Given the description of an element on the screen output the (x, y) to click on. 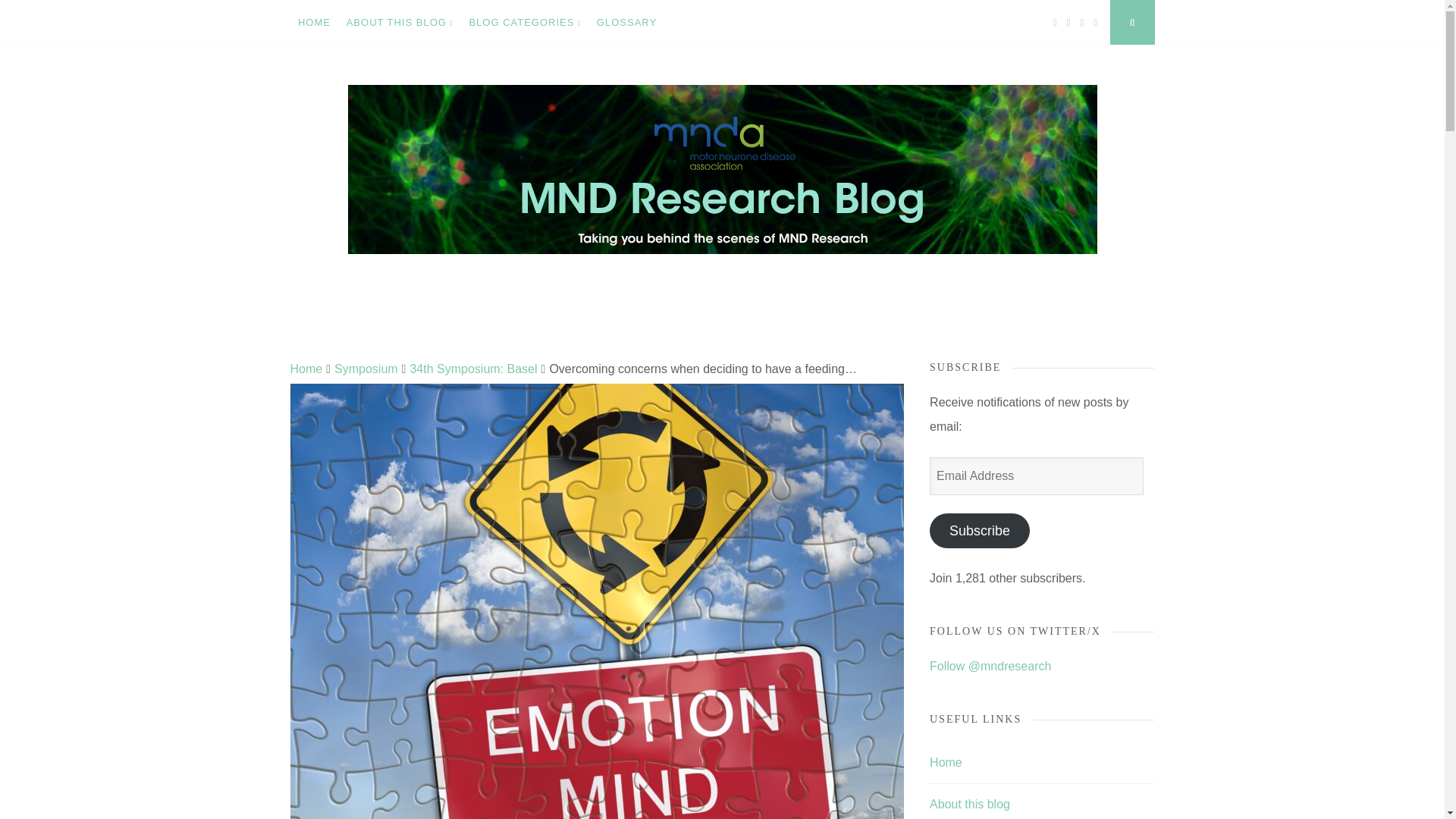
ABOUT THIS BLOG (399, 22)
Symposium (365, 368)
MND Research Blog (436, 336)
GLOSSARY (625, 22)
Home (305, 368)
BLOG CATEGORIES (524, 22)
34th Symposium: Basel (473, 368)
HOME (313, 22)
